Given the description of an element on the screen output the (x, y) to click on. 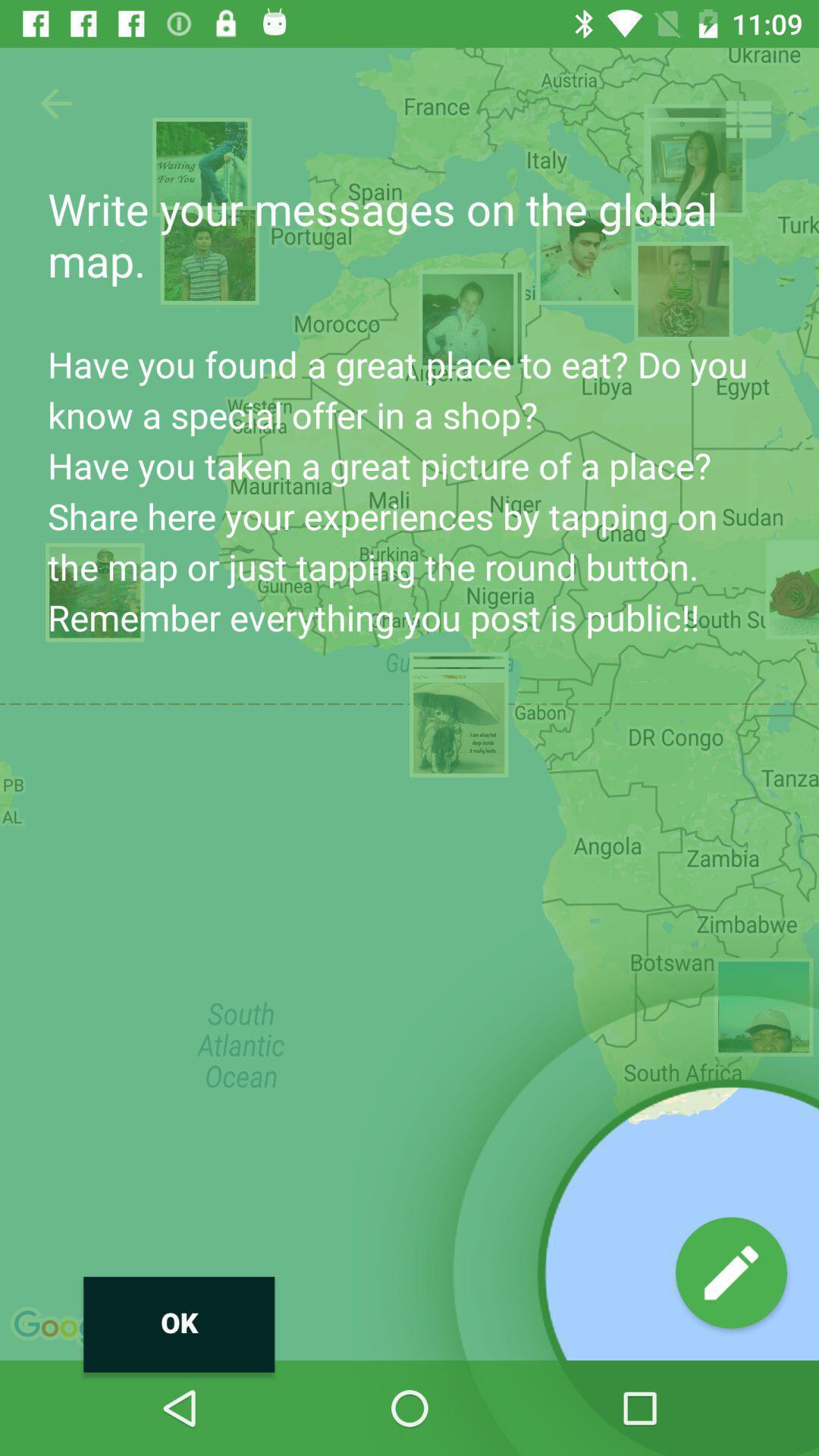
return to the previous page (55, 103)
